Given the description of an element on the screen output the (x, y) to click on. 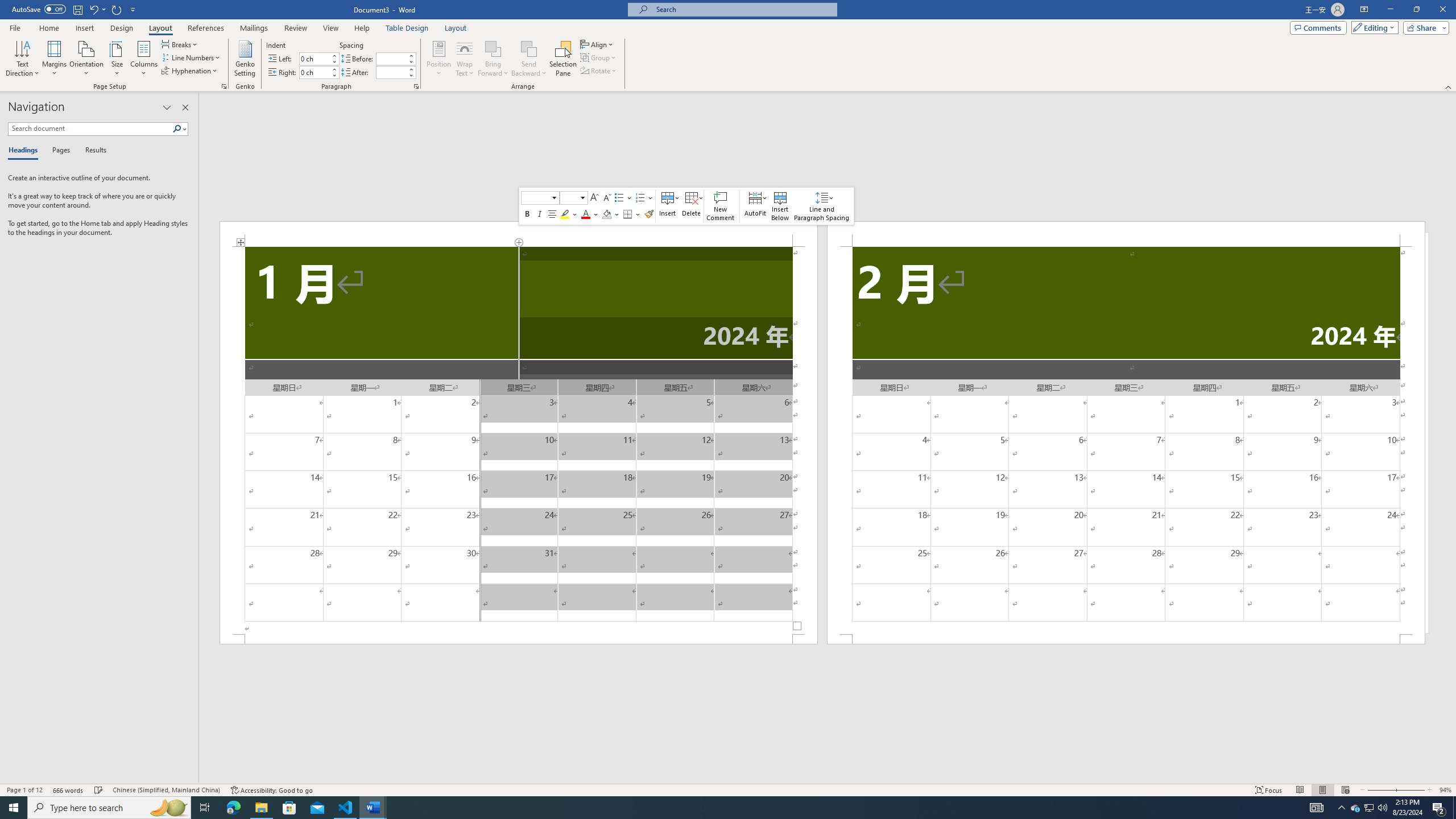
Footer -Section 2- (1126, 638)
Align (597, 44)
